Given the description of an element on the screen output the (x, y) to click on. 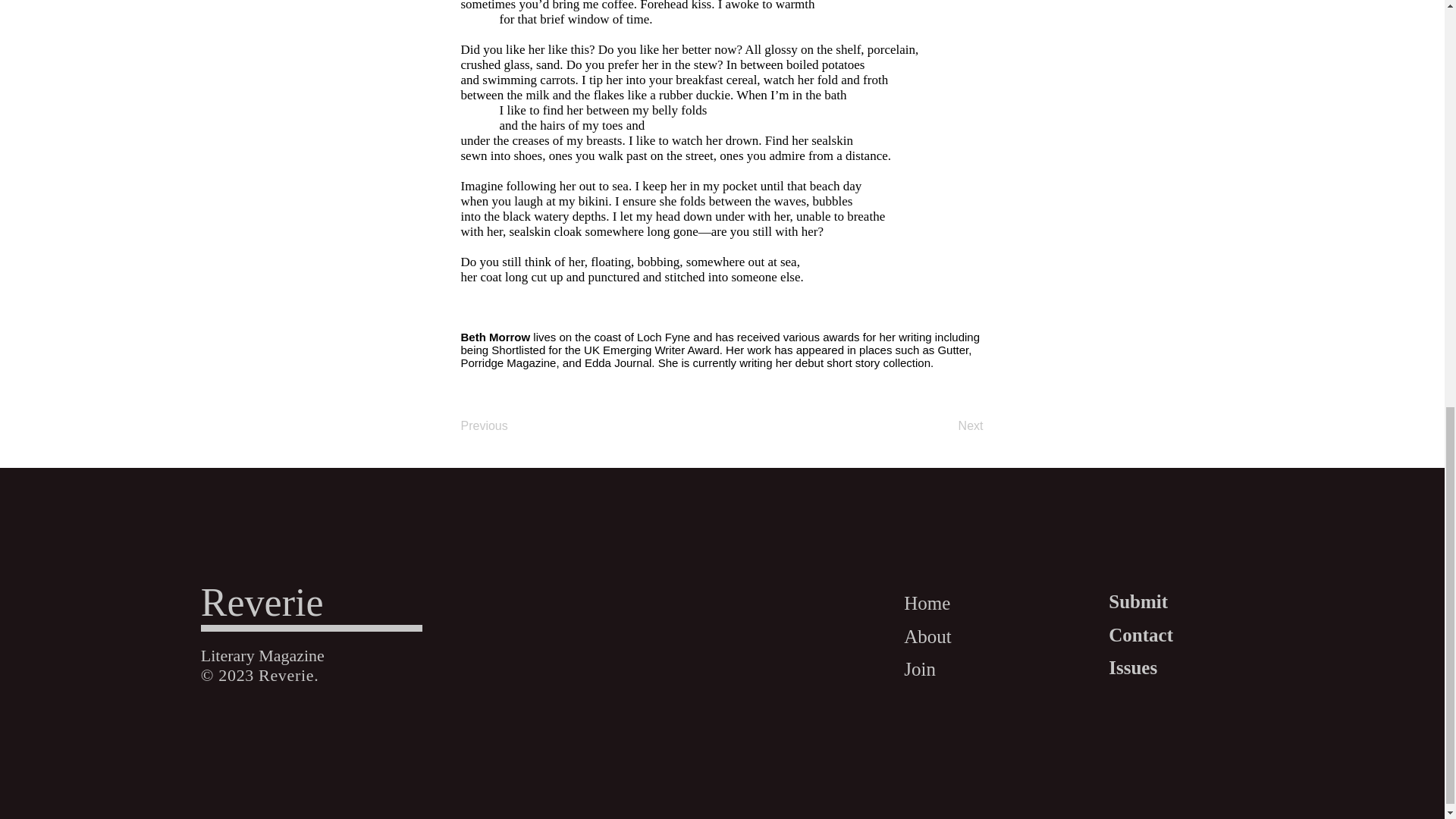
Previous (510, 426)
Join (920, 668)
Issues (1132, 667)
About (928, 635)
Contact (1140, 633)
Submit (1137, 600)
Home (927, 602)
Next (944, 426)
Reverie (261, 602)
